Given the description of an element on the screen output the (x, y) to click on. 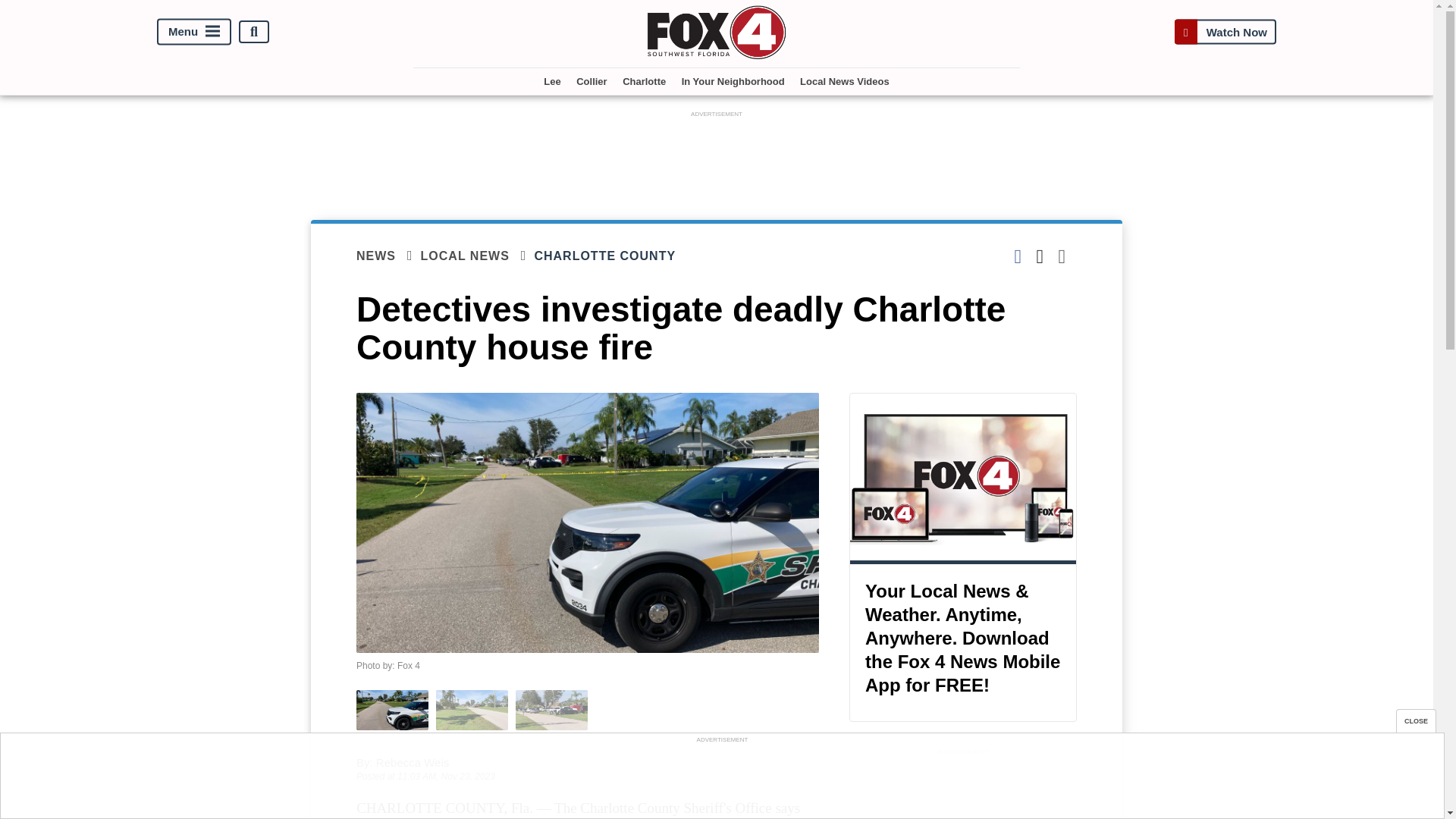
Menu (194, 31)
Watch Now (1224, 31)
3rd party ad content (962, 789)
3rd party ad content (716, 155)
3rd party ad content (721, 780)
